Given the description of an element on the screen output the (x, y) to click on. 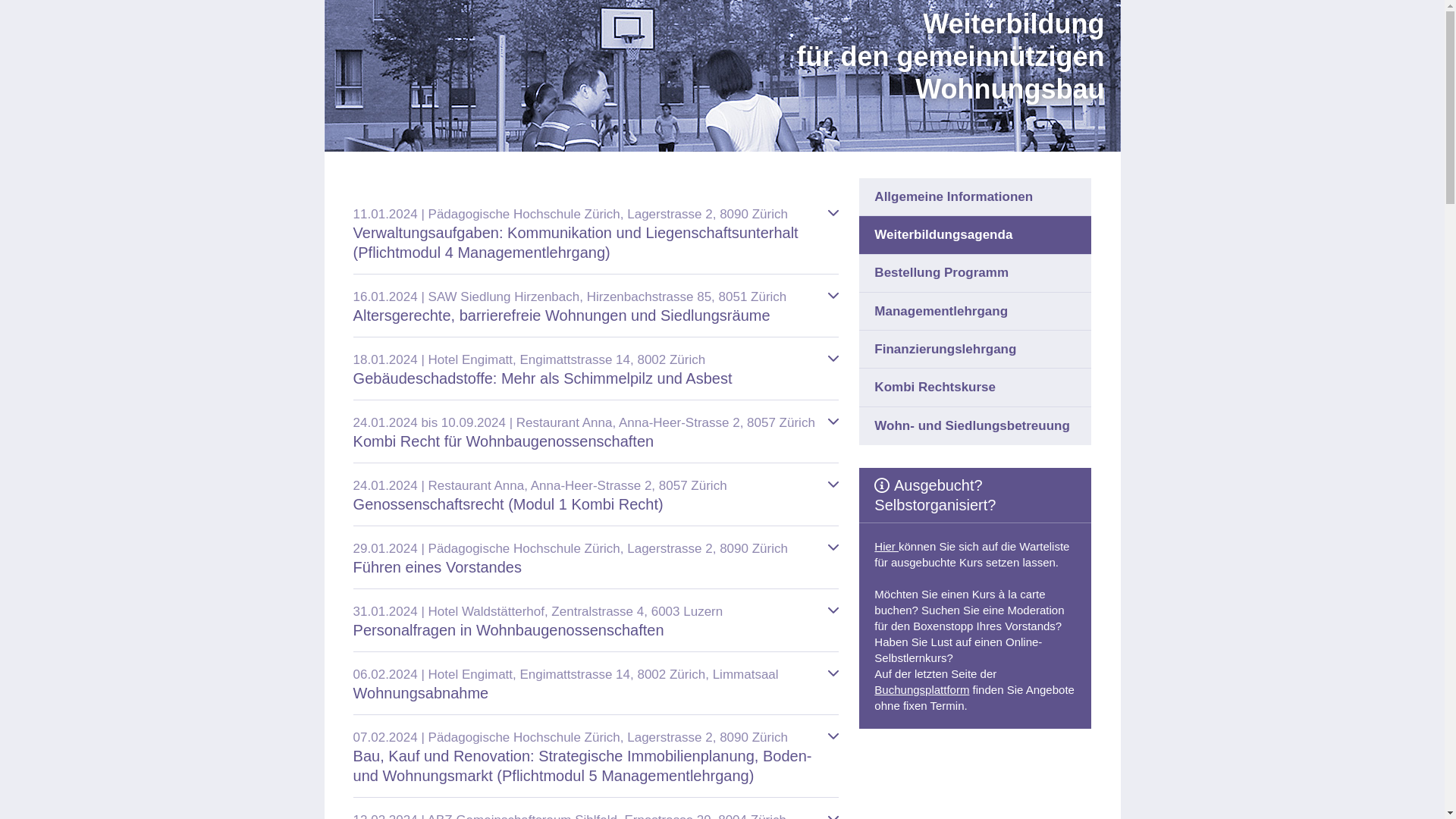
Bestellung Programm Element type: text (975, 273)
Buchungsplattform Element type: text (921, 689)
Finanzierungslehrgang Element type: text (975, 349)
Managementlehrgang Element type: text (975, 311)
Weiterbildungsagenda Element type: text (975, 235)
Allgemeine Informationen Element type: text (975, 197)
Hier  Element type: text (886, 545)
Kombi Rechtskurse Element type: text (975, 387)
Wohn- und Siedlungsbetreuung Element type: text (975, 426)
